Given the description of an element on the screen output the (x, y) to click on. 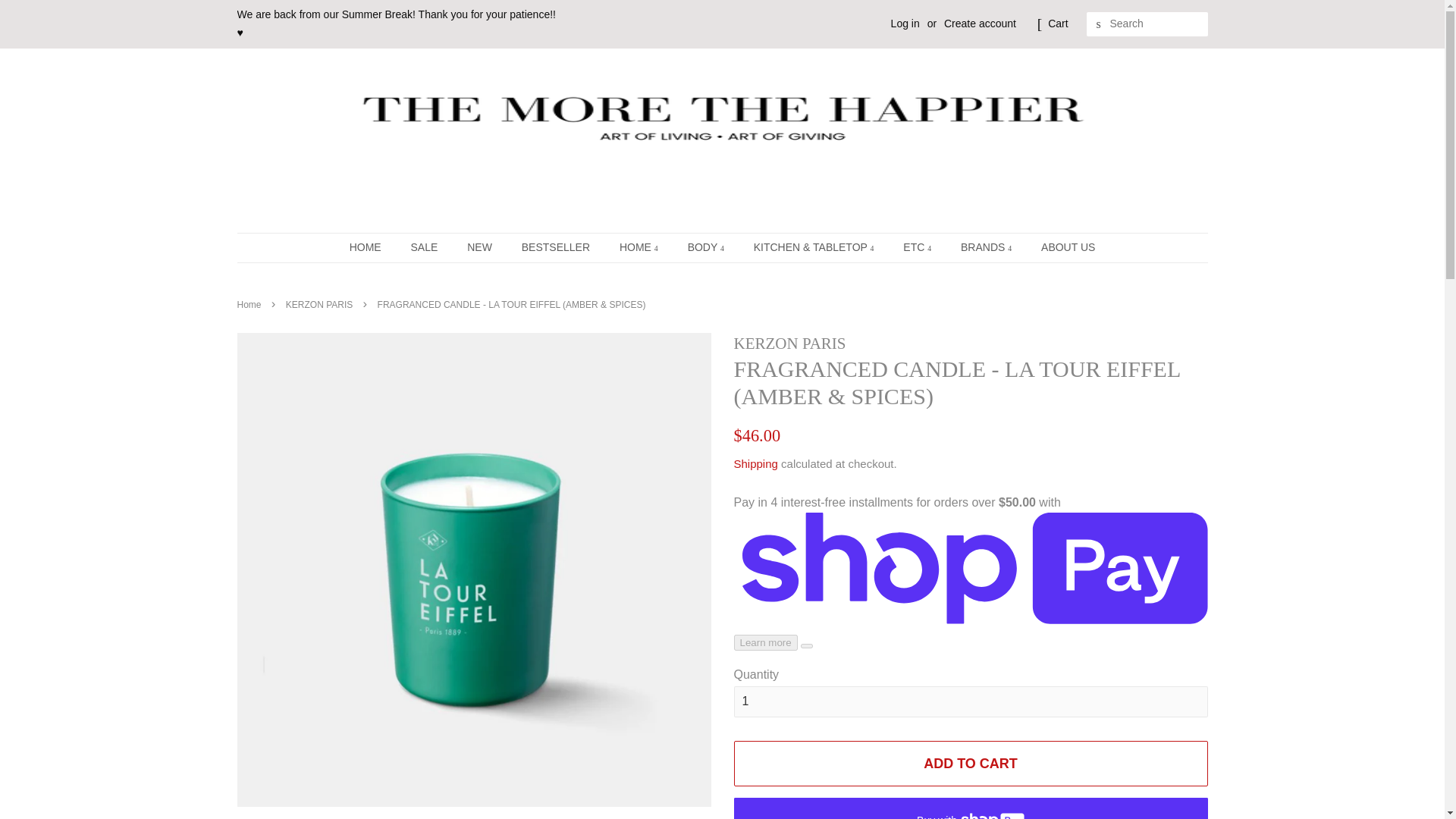
Cart (1057, 24)
SEARCH (1097, 24)
Create account (979, 23)
Back to the frontpage (249, 304)
Log in (905, 23)
1 (970, 701)
